Given the description of an element on the screen output the (x, y) to click on. 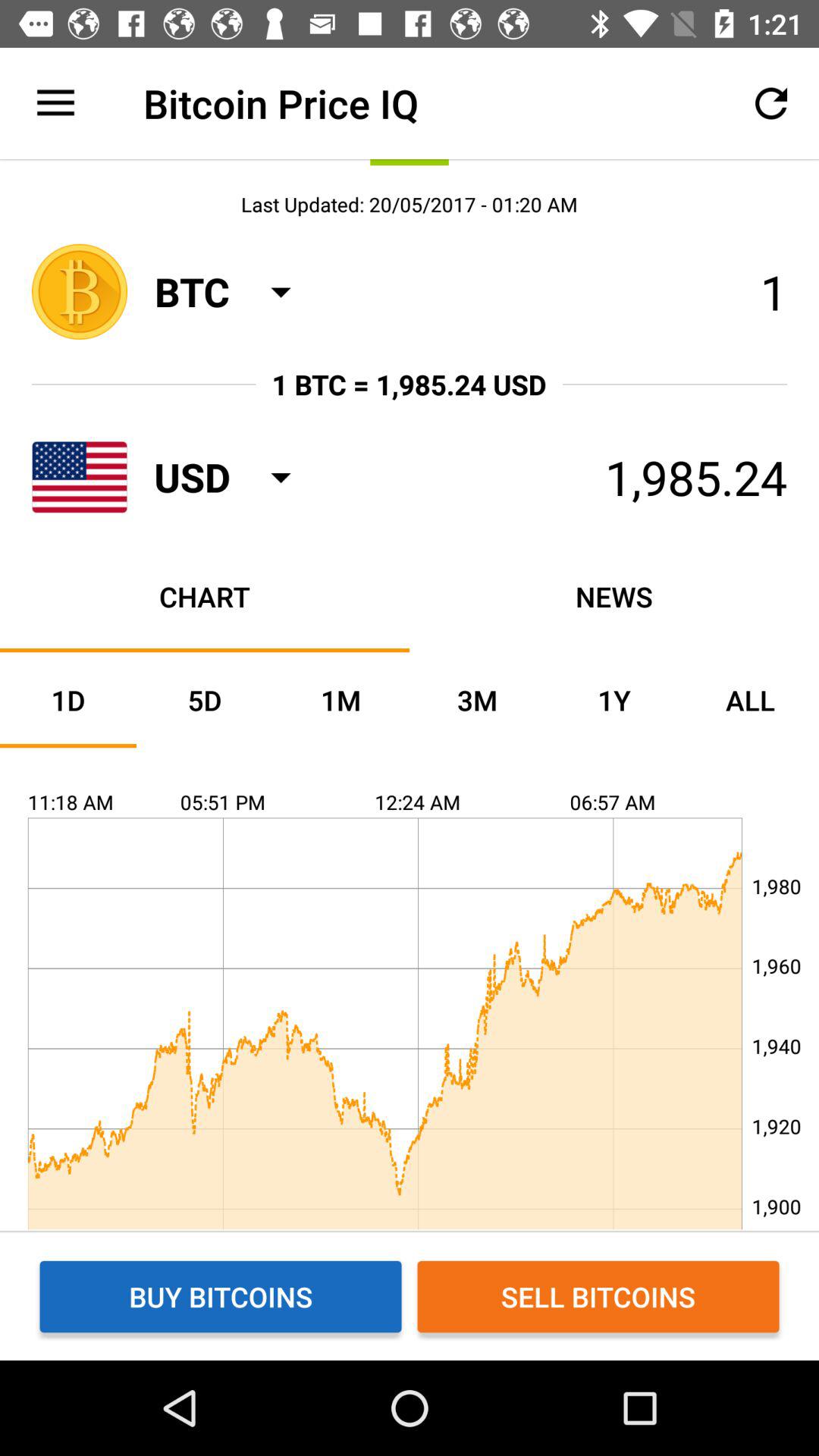
press sell bitcoins at the bottom right corner (598, 1296)
